Given the description of an element on the screen output the (x, y) to click on. 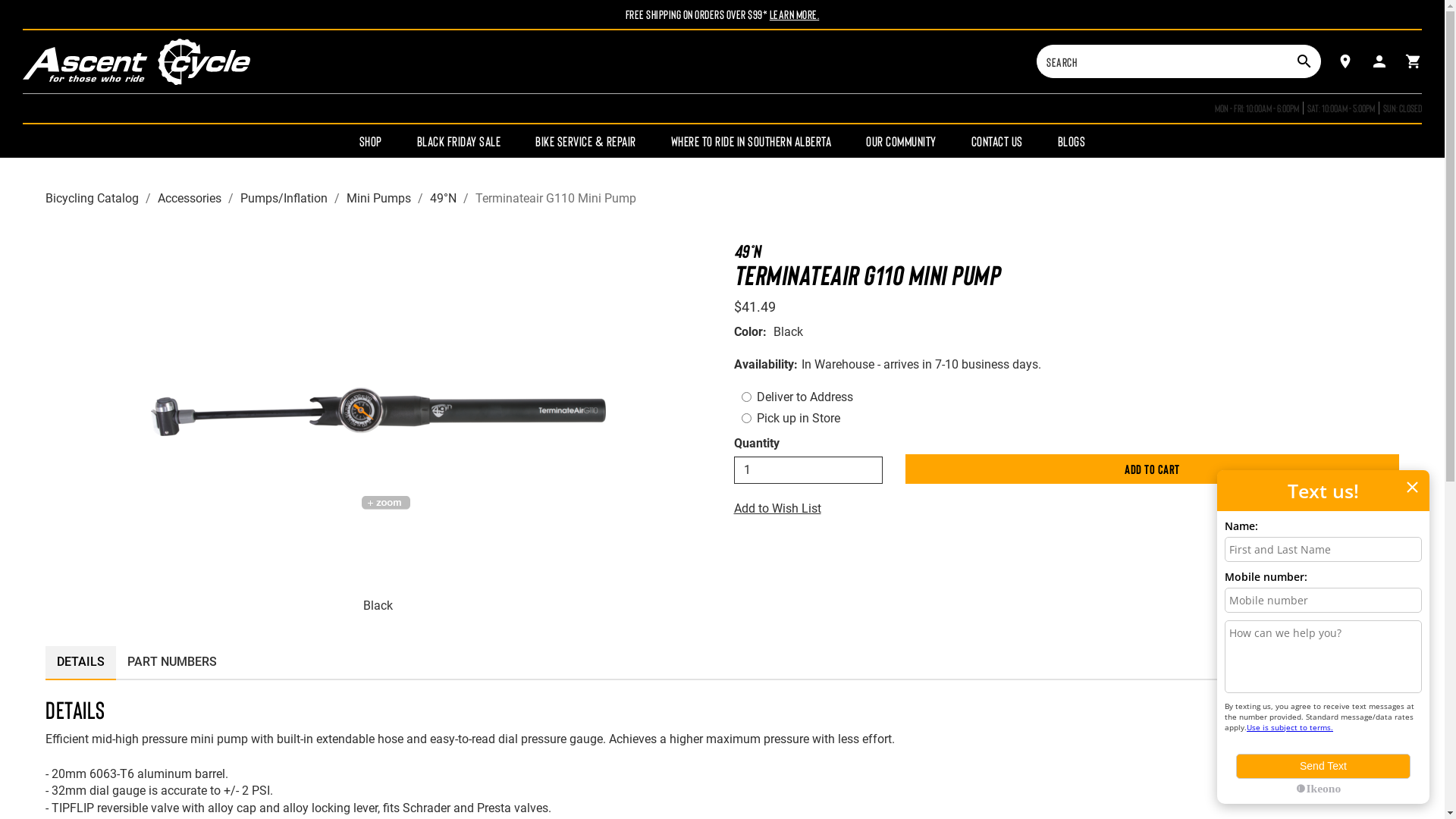
Cart
Cart Element type: text (1413, 61)
Black Friday Sale Element type: text (458, 140)
Mini Pumps Element type: text (378, 198)
Add to Wish List Element type: text (1066, 508)
Add to Cart Element type: text (1152, 468)
Bicycling Catalog Element type: text (91, 198)
Find Us
Store Element type: text (1344, 61)
Bike Service & Repair Element type: text (585, 140)
Free Shipping On Orders Over $99* Learn More. Element type: text (722, 13)
Blogs Element type: text (1071, 140)
Where To Ride In Southern Alberta Element type: text (751, 140)
Search Element type: hover (1162, 61)
Contact Us Element type: text (996, 140)
My Account
My Account Element type: text (1378, 61)
DETAILS Element type: text (80, 663)
Accessories Element type: text (189, 198)
Our Community Element type: text (901, 140)
Search Element type: text (1304, 61)
Shop Element type: text (370, 140)
Ascent Cycle Home Page Element type: hover (136, 59)
Pumps/Inflation Element type: text (283, 198)
PART NUMBERS Element type: text (172, 663)
